Given the description of an element on the screen output the (x, y) to click on. 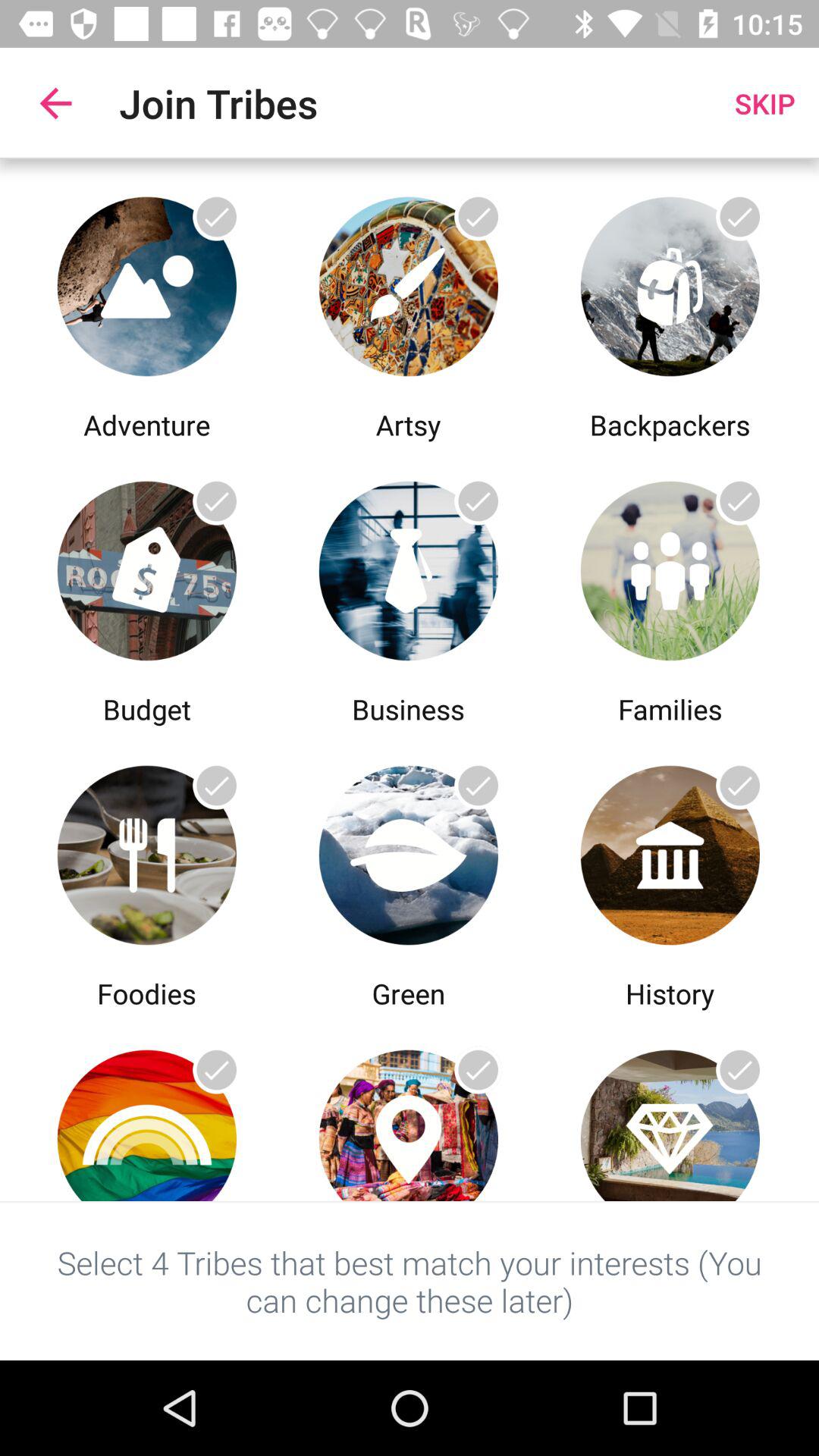
green tribe option (408, 851)
